Given the description of an element on the screen output the (x, y) to click on. 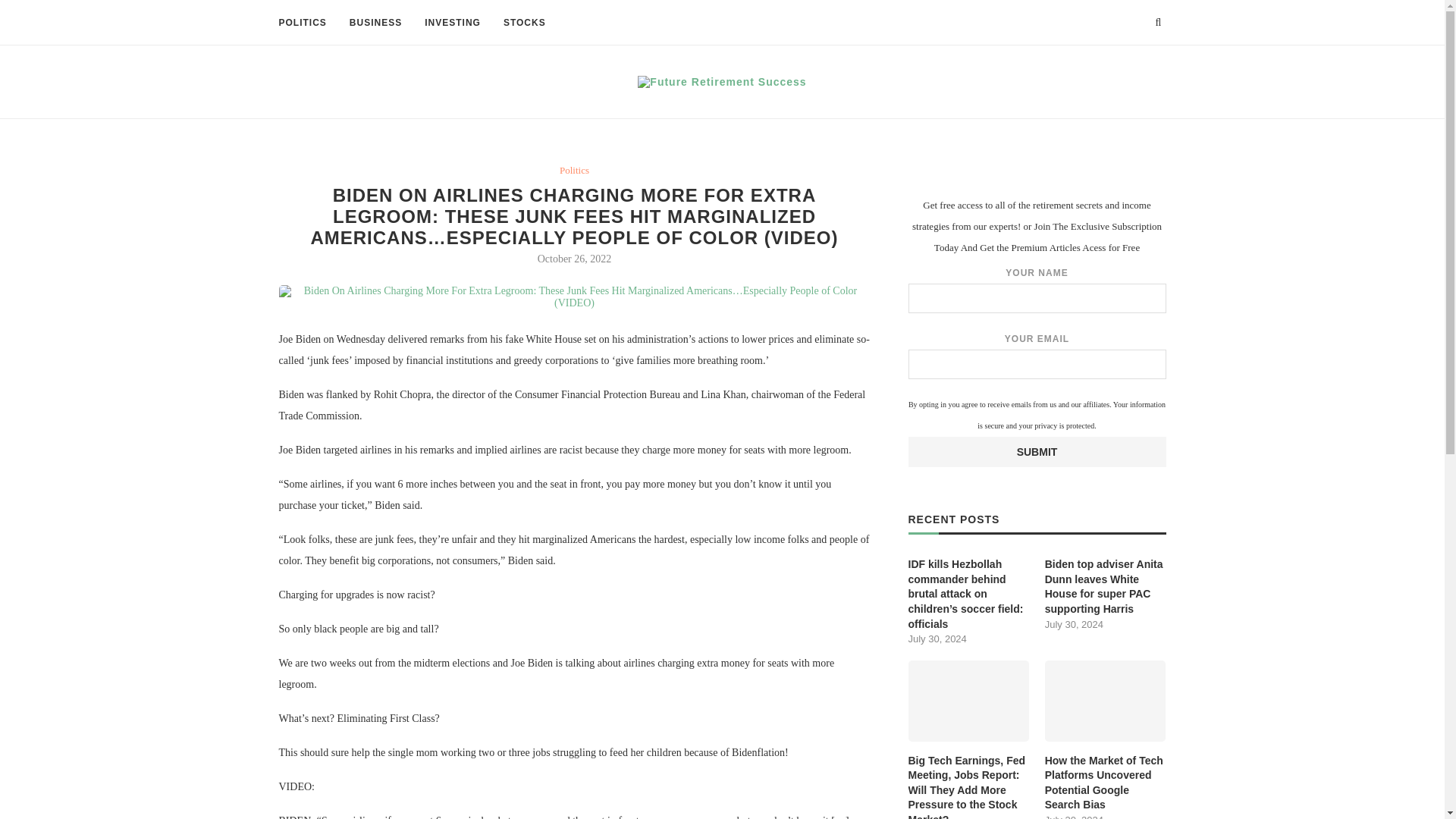
BUSINESS (375, 22)
INVESTING (452, 22)
STOCKS (524, 22)
POLITICS (302, 22)
Submit (1037, 451)
Politics (574, 170)
